Given the description of an element on the screen output the (x, y) to click on. 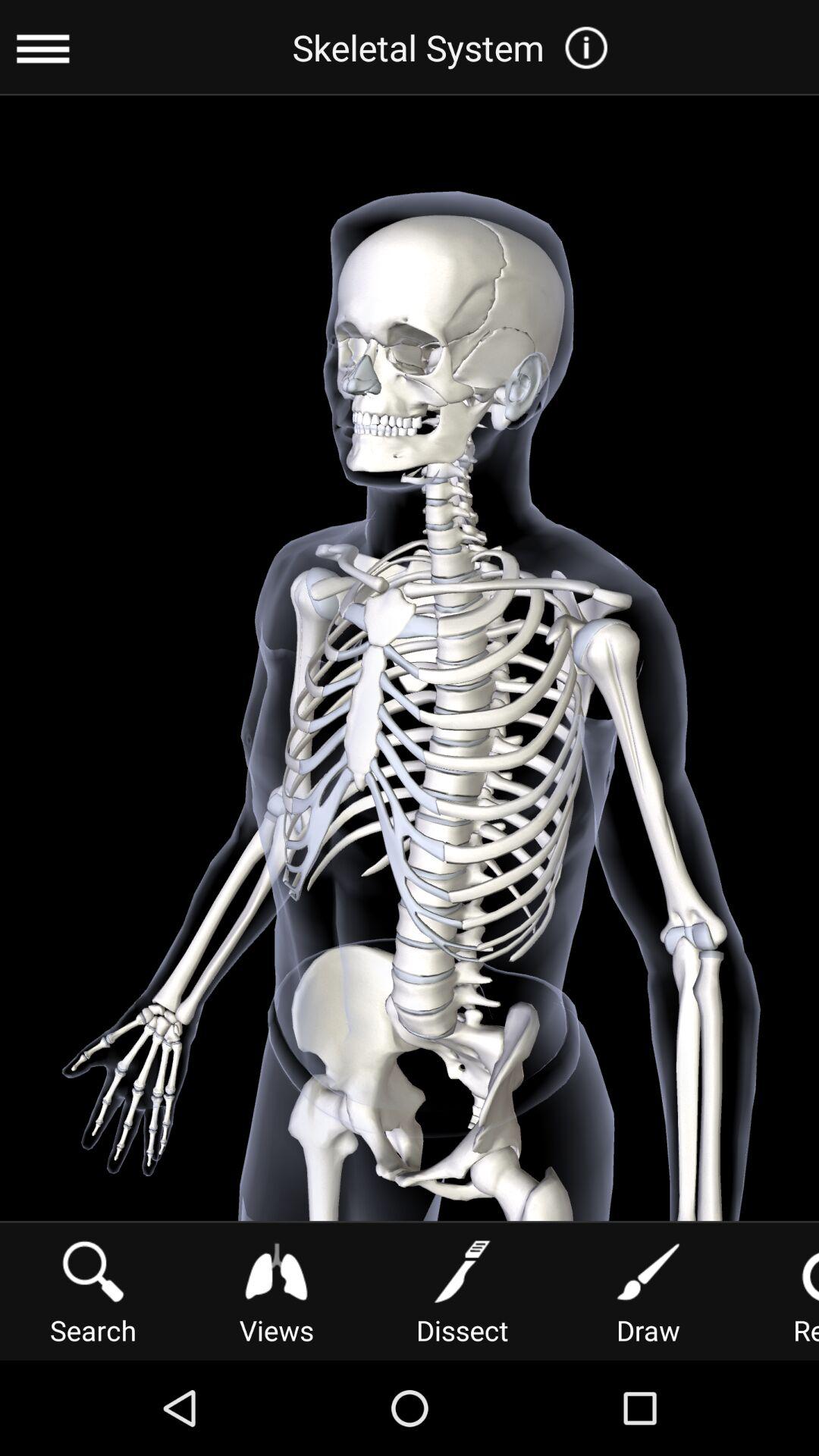
turn off the button below skeletal system item (462, 1290)
